Given the description of an element on the screen output the (x, y) to click on. 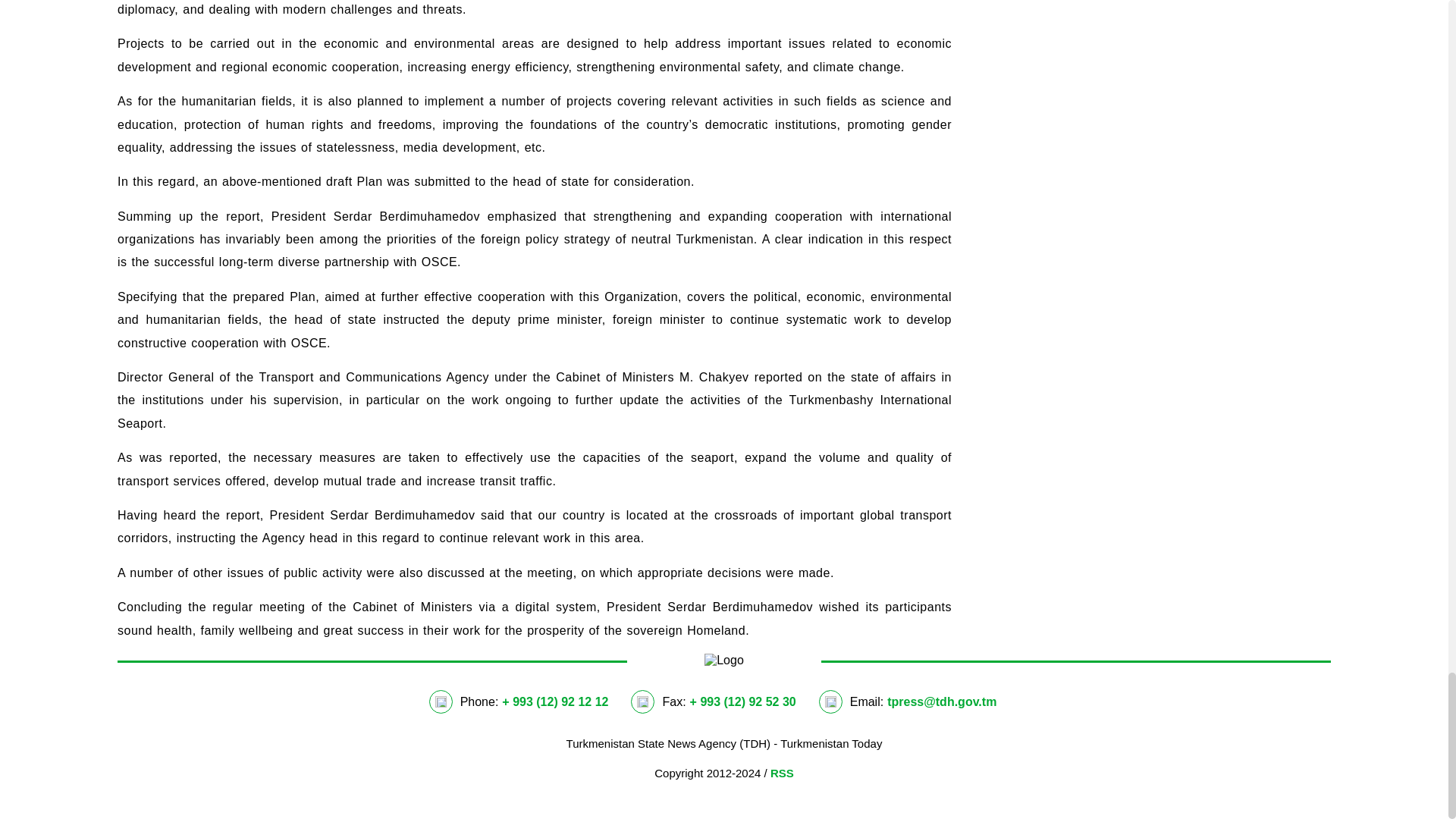
RSS (781, 772)
